Given the description of an element on the screen output the (x, y) to click on. 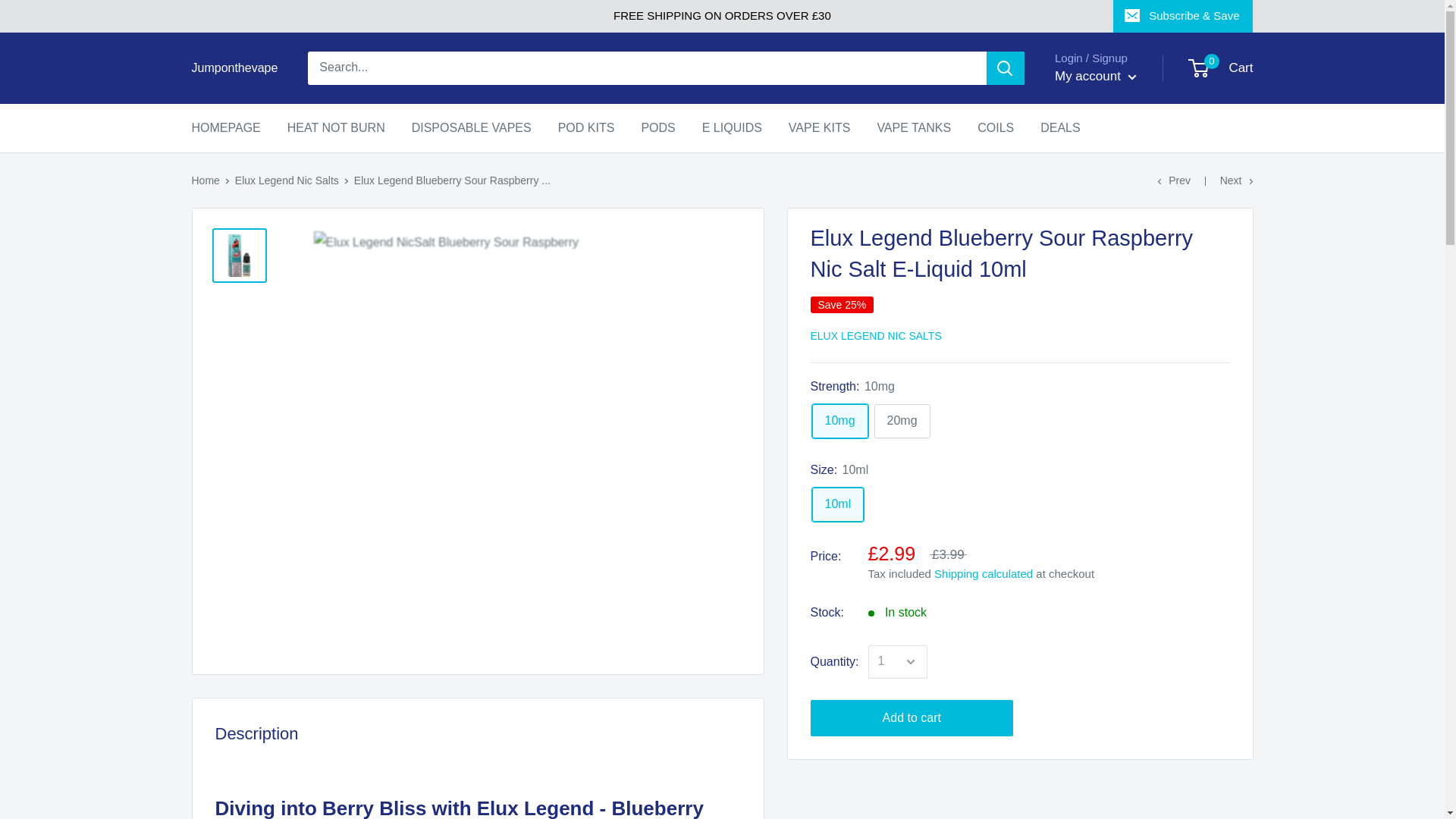
E LIQUIDS (731, 128)
HEAT NOT BURN (335, 128)
My account (1095, 76)
20mg (902, 421)
Jumponthevape (234, 67)
PODS (657, 128)
10ml (836, 504)
POD KITS (585, 128)
10mg (1221, 68)
DISPOSABLE VAPES (838, 421)
HOMEPAGE (471, 128)
VAPE KITS (225, 128)
